Given the description of an element on the screen output the (x, y) to click on. 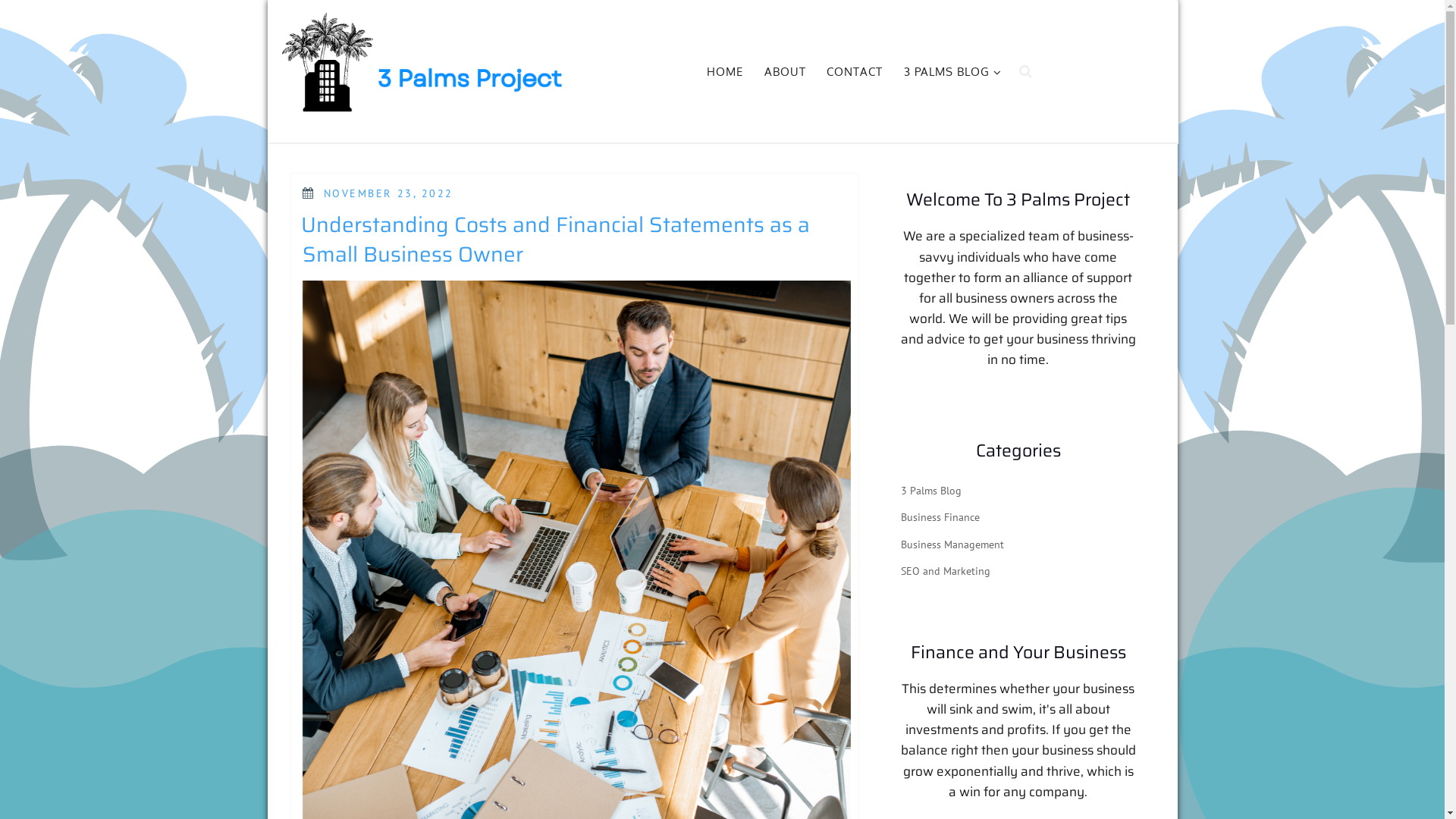
HOME Element type: text (725, 72)
CONTACT Element type: text (854, 72)
3 PALMS BLOG Element type: text (950, 72)
SEO and Marketing Element type: text (945, 570)
Business Management Element type: text (952, 544)
NOVEMBER 23, 2022 Element type: text (388, 193)
Business Finance Element type: text (939, 517)
3 Palms Blog Element type: text (930, 490)
ABOUT Element type: text (784, 72)
